Given the description of an element on the screen output the (x, y) to click on. 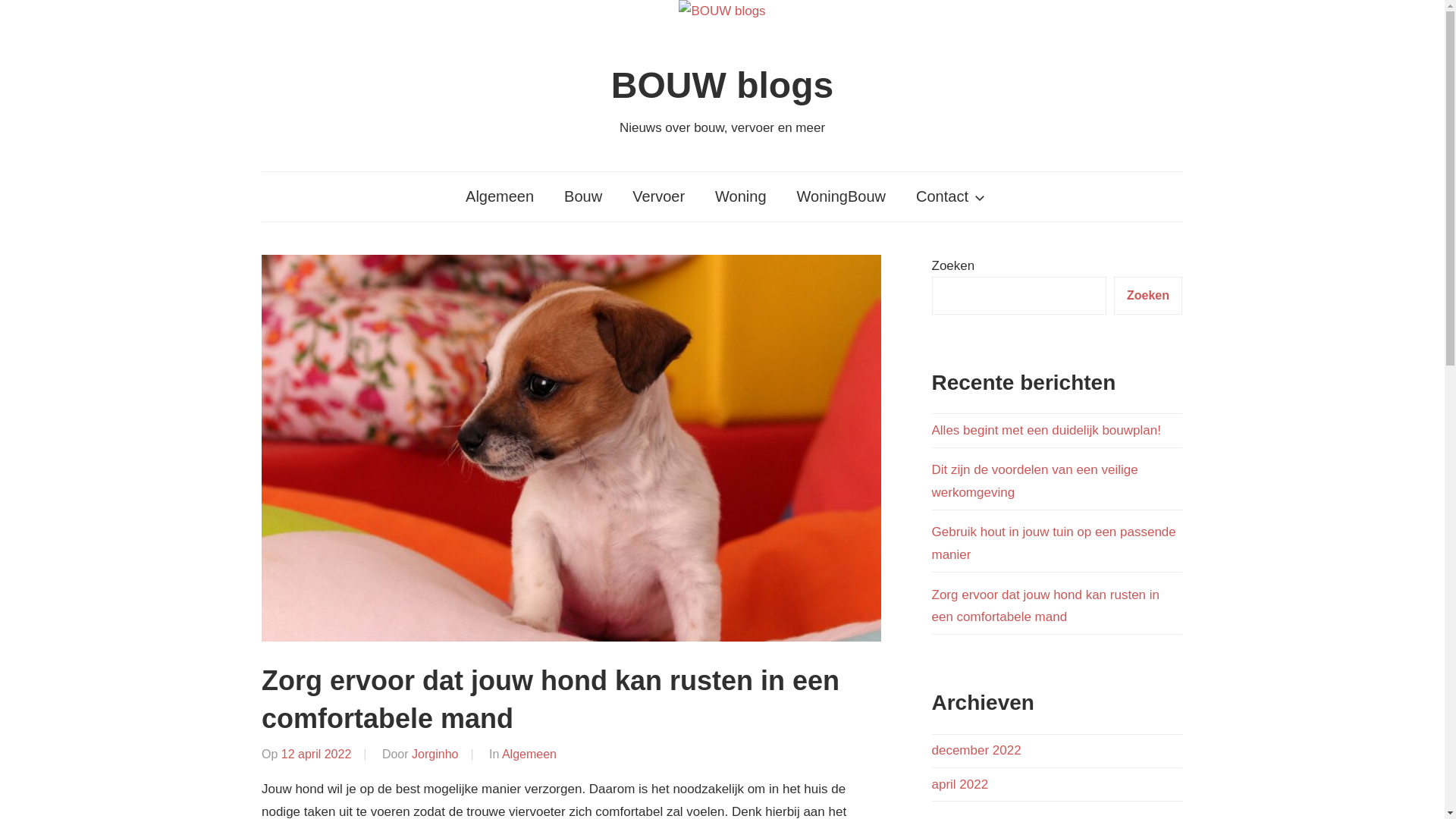
WoningBouw Element type: text (840, 196)
BOUW blogs Element type: text (722, 85)
Alles begint met een duidelijk bouwplan! Element type: text (1045, 430)
Gebruik hout in jouw tuin op een passende manier Element type: text (1053, 542)
april 2022 Element type: text (959, 784)
Woning Element type: text (740, 196)
Vervoer Element type: text (658, 196)
Contact Element type: text (947, 196)
Jorginho Element type: text (434, 753)
Algemeen Element type: text (499, 196)
december 2022 Element type: text (975, 750)
12 april 2022 Element type: text (316, 753)
Dit zijn de voordelen van een veilige werkomgeving Element type: text (1034, 480)
Bouw Element type: text (583, 196)
Zoeken Element type: text (1147, 294)
Algemeen Element type: text (529, 753)
